Given the description of an element on the screen output the (x, y) to click on. 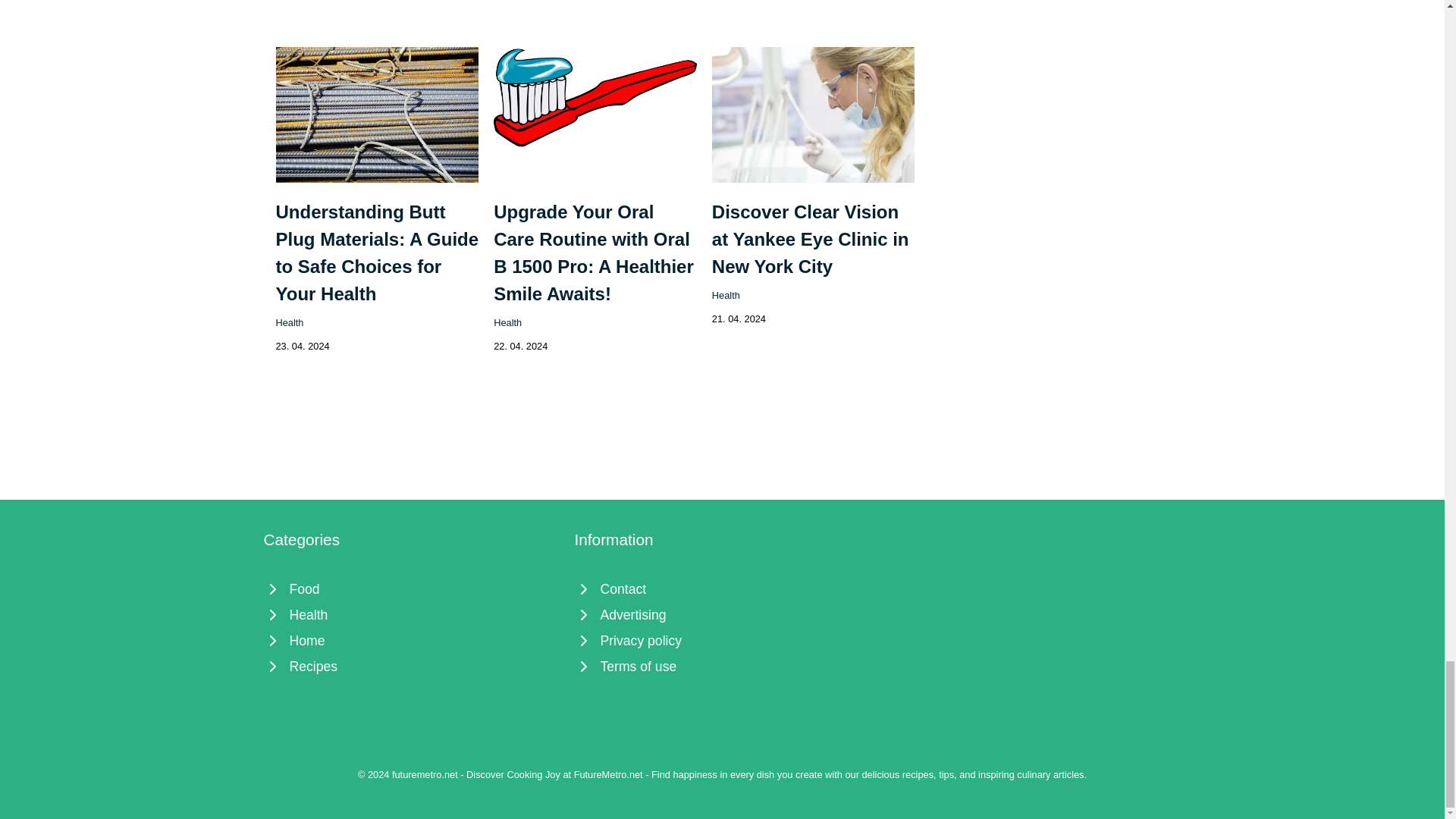
Health (507, 322)
Health (411, 614)
Advertising (722, 614)
Home (411, 640)
Health (290, 322)
Recipes (411, 666)
Discover Clear Vision at Yankee Eye Clinic in New York City (809, 238)
Health (725, 295)
Food (411, 588)
Contact (722, 588)
